Given the description of an element on the screen output the (x, y) to click on. 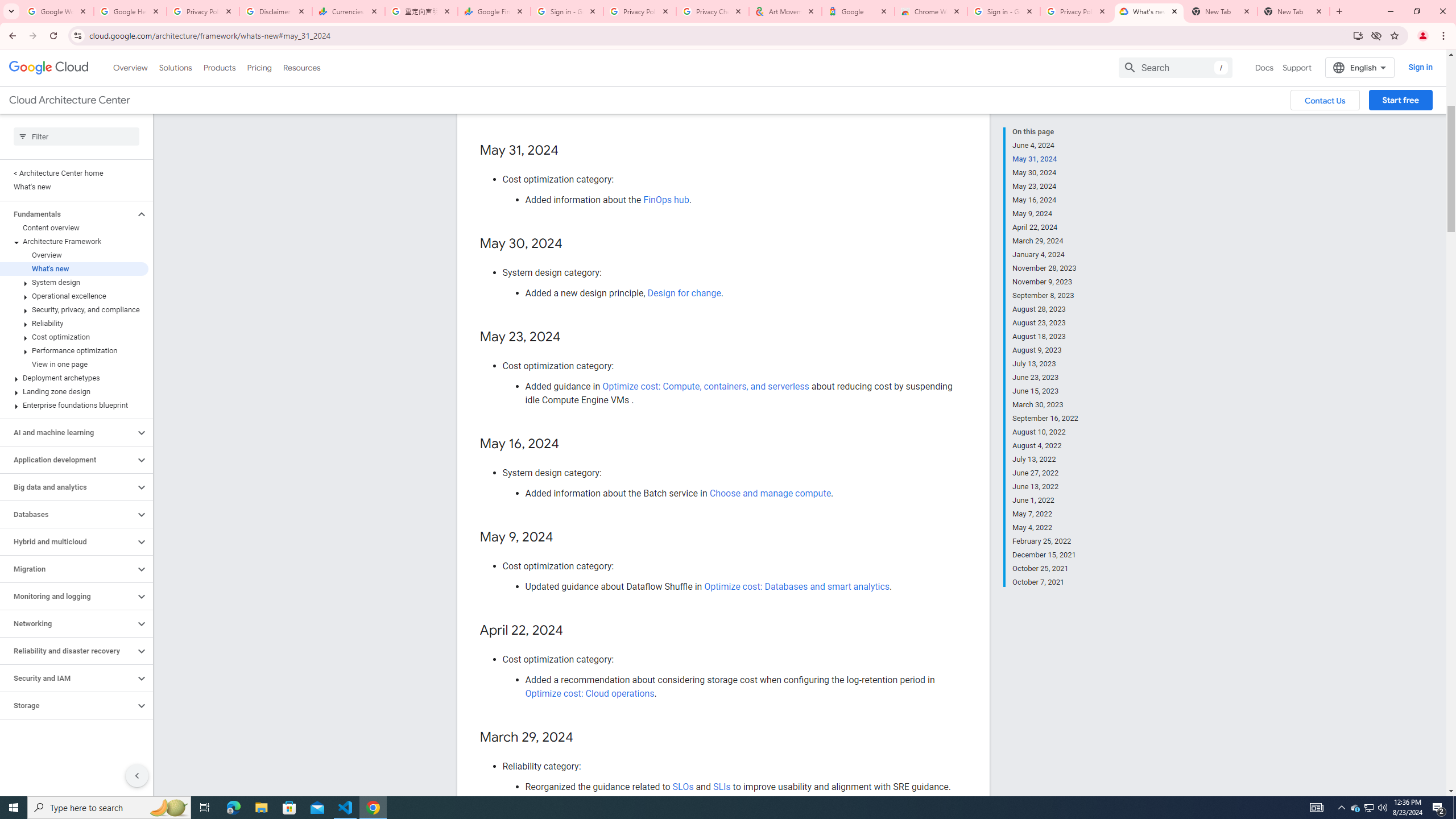
Deployment archetypes (74, 377)
June 1, 2022 (1044, 499)
Security, privacy, and compliance (74, 309)
Optimize cost: Databases and smart analytics (796, 586)
monitoring (649, 72)
New Tab (1293, 11)
Currencies - Google Finance (348, 11)
May 23, 2024 (1044, 186)
Cloud Architecture Center (68, 100)
Chrome Web Store - Color themes by Chrome (930, 11)
Google (857, 11)
Monitoring and logging (67, 596)
Content overview (74, 228)
